Given the description of an element on the screen output the (x, y) to click on. 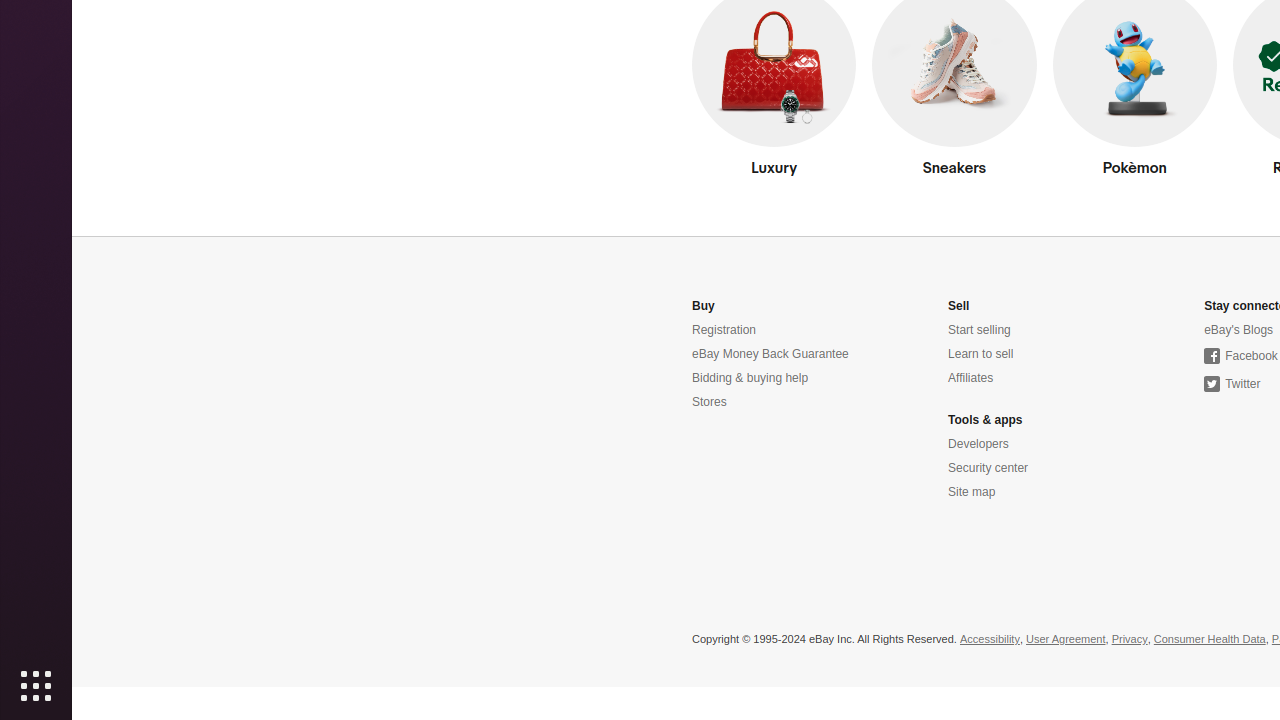
eBay's Blogs Element type: link (1239, 330)
User Agreement Element type: link (1066, 640)
Twitter Element type: link (1232, 384)
Learn to sell Element type: link (981, 354)
eBay Money Back Guarantee Element type: link (770, 354)
